Given the description of an element on the screen output the (x, y) to click on. 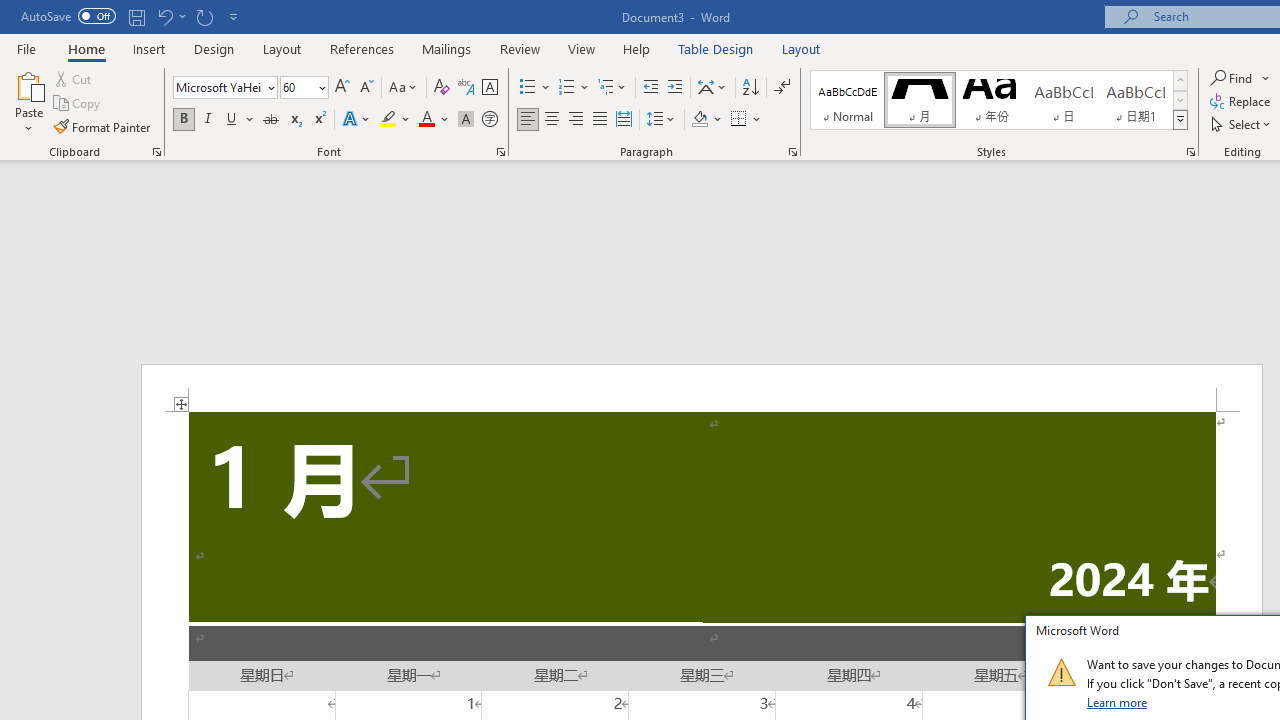
Align Right (575, 119)
Distributed (623, 119)
Select (1242, 124)
Text Effects and Typography (357, 119)
Change Case (404, 87)
Character Shading (465, 119)
Text Highlight Color (395, 119)
More Options (1266, 78)
Font Size (297, 87)
Underline (232, 119)
Superscript (319, 119)
Phonetic Guide... (465, 87)
Repeat Style (204, 15)
